Given the description of an element on the screen output the (x, y) to click on. 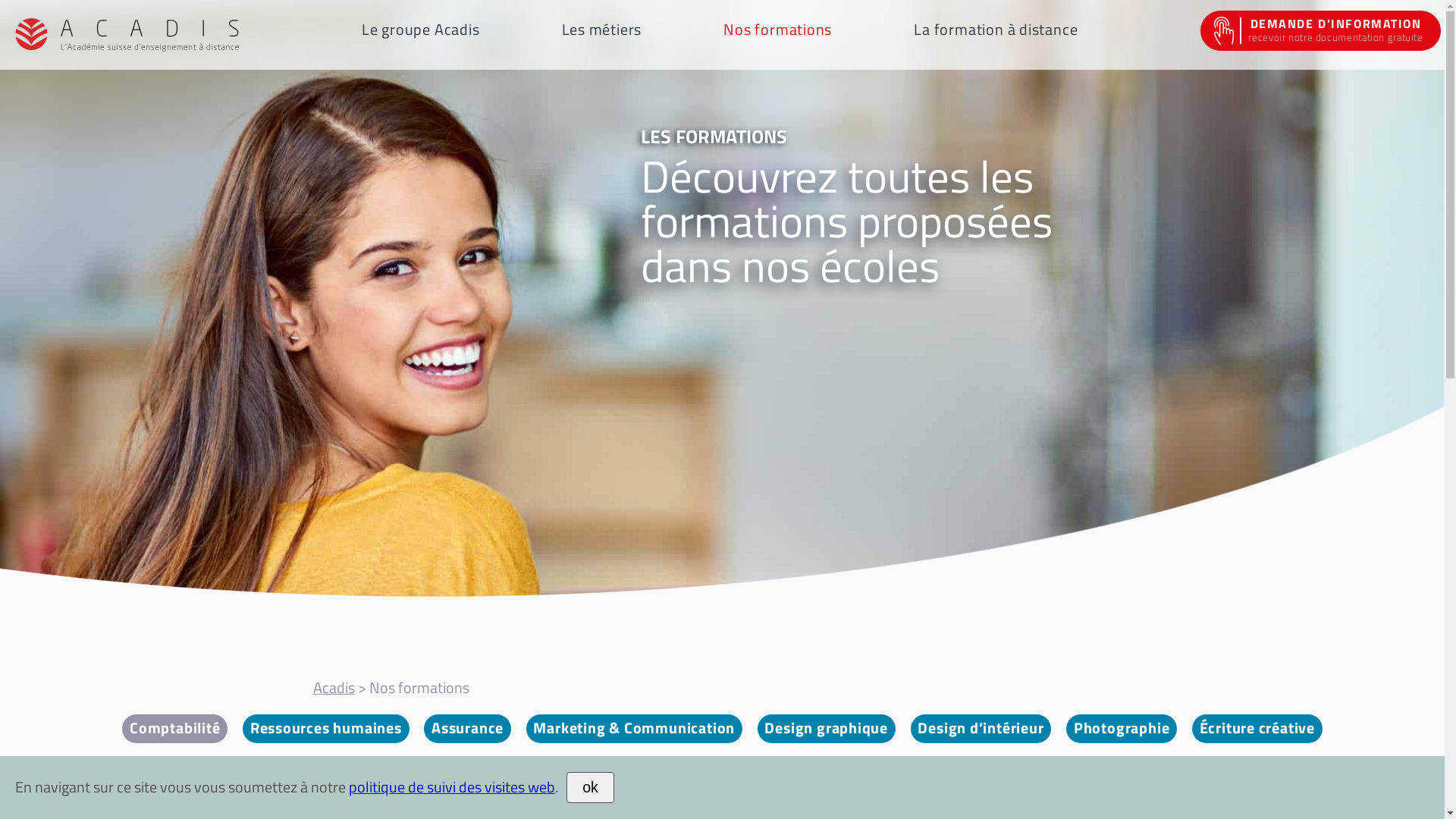
Photographie Element type: text (1121, 728)
Le groupe Acadis Element type: text (420, 29)
politique de suivi des visites web Element type: text (451, 786)
ok Element type: text (589, 787)
Acadis Element type: text (333, 687)
Accueil Element type: text (126, 34)
Design graphique Element type: text (826, 728)
Nos formations Element type: text (777, 29)
Assurance Element type: text (467, 728)
Ressources humaines Element type: text (325, 728)
Marketing & Communication Element type: text (634, 728)
